Given the description of an element on the screen output the (x, y) to click on. 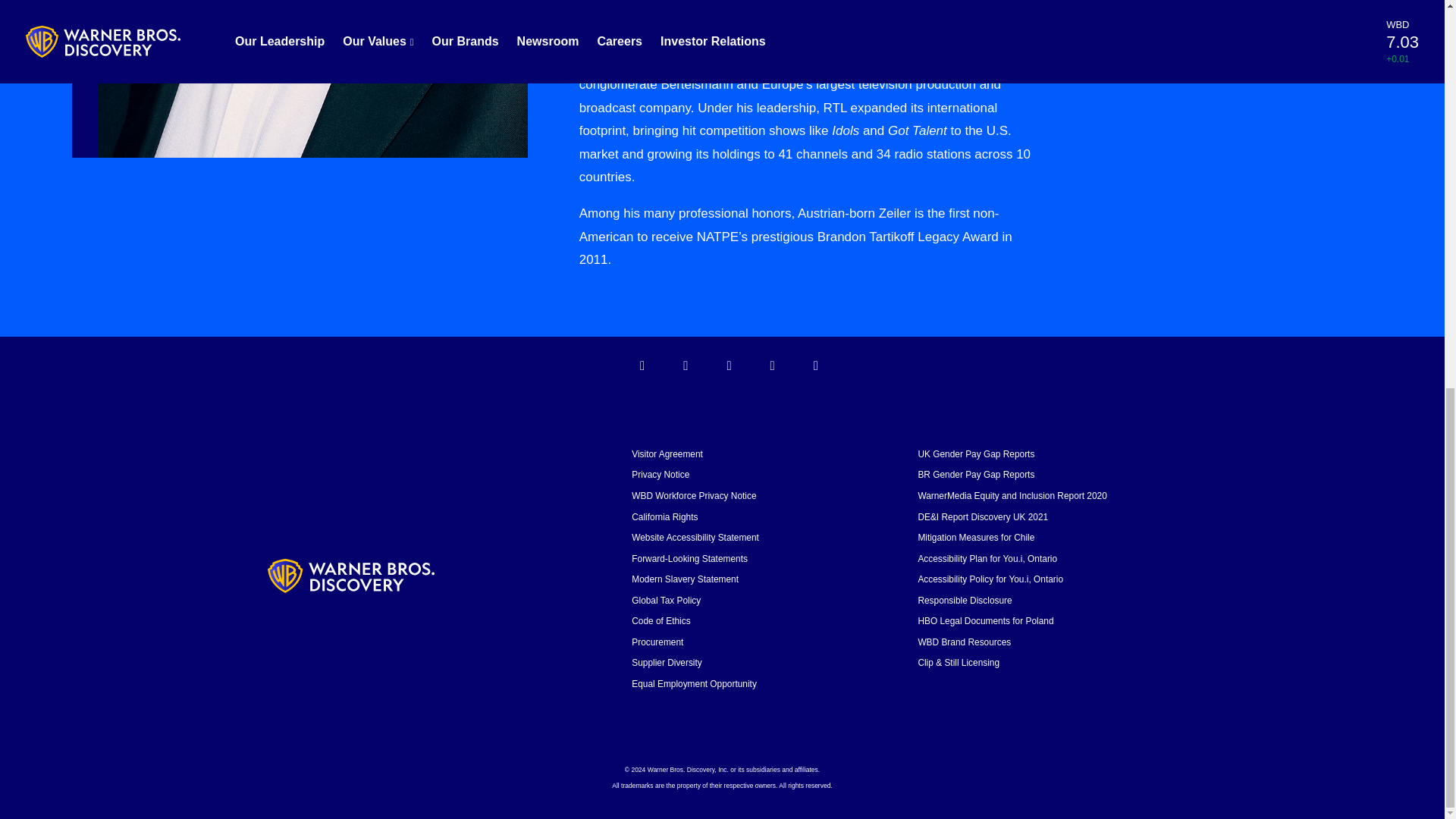
Supplier Diversity (666, 662)
Forward-Looking Statements (689, 558)
California Rights (664, 516)
Code of Ethics (660, 620)
WarnerMedia Equity and Inclusion Report 2020 (1011, 495)
WBD Workforce Privacy Notice (693, 495)
Modern Slavery Statement (684, 579)
Procurement (656, 642)
Website Accessibility Statement (694, 537)
Privacy Notice (659, 474)
